Given the description of an element on the screen output the (x, y) to click on. 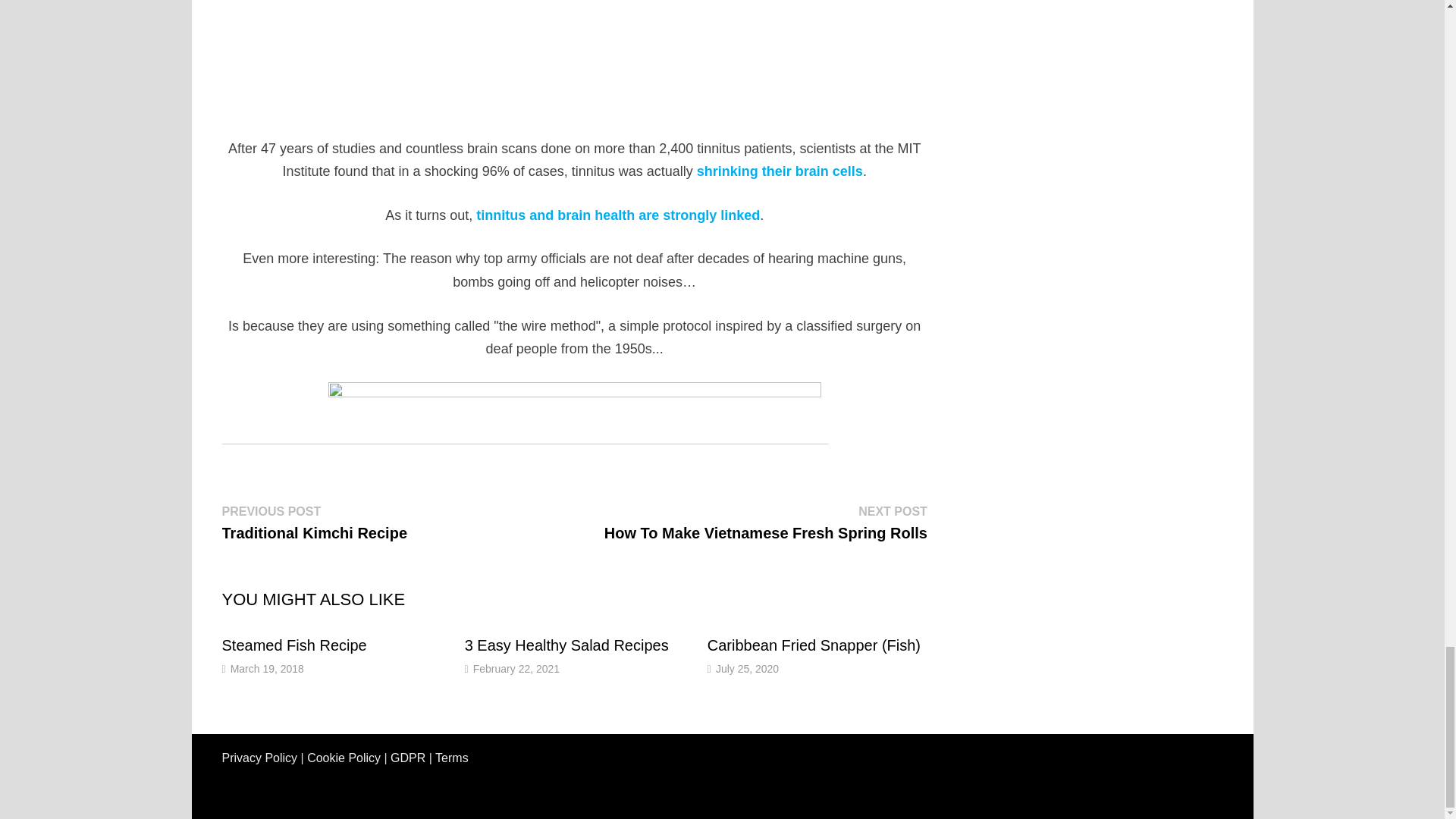
Steamed Fish Recipe (293, 645)
Steamed Fish Recipe (314, 522)
March 19, 2018 (293, 645)
3 Easy Healthy Salad Recipes (267, 668)
3 Easy Healthy Salad Recipes (566, 645)
shrinking their brain cells (566, 645)
tinnitus and brain health are strongly linked (780, 171)
February 22, 2021 (618, 215)
July 25, 2020 (516, 668)
